Given the description of an element on the screen output the (x, y) to click on. 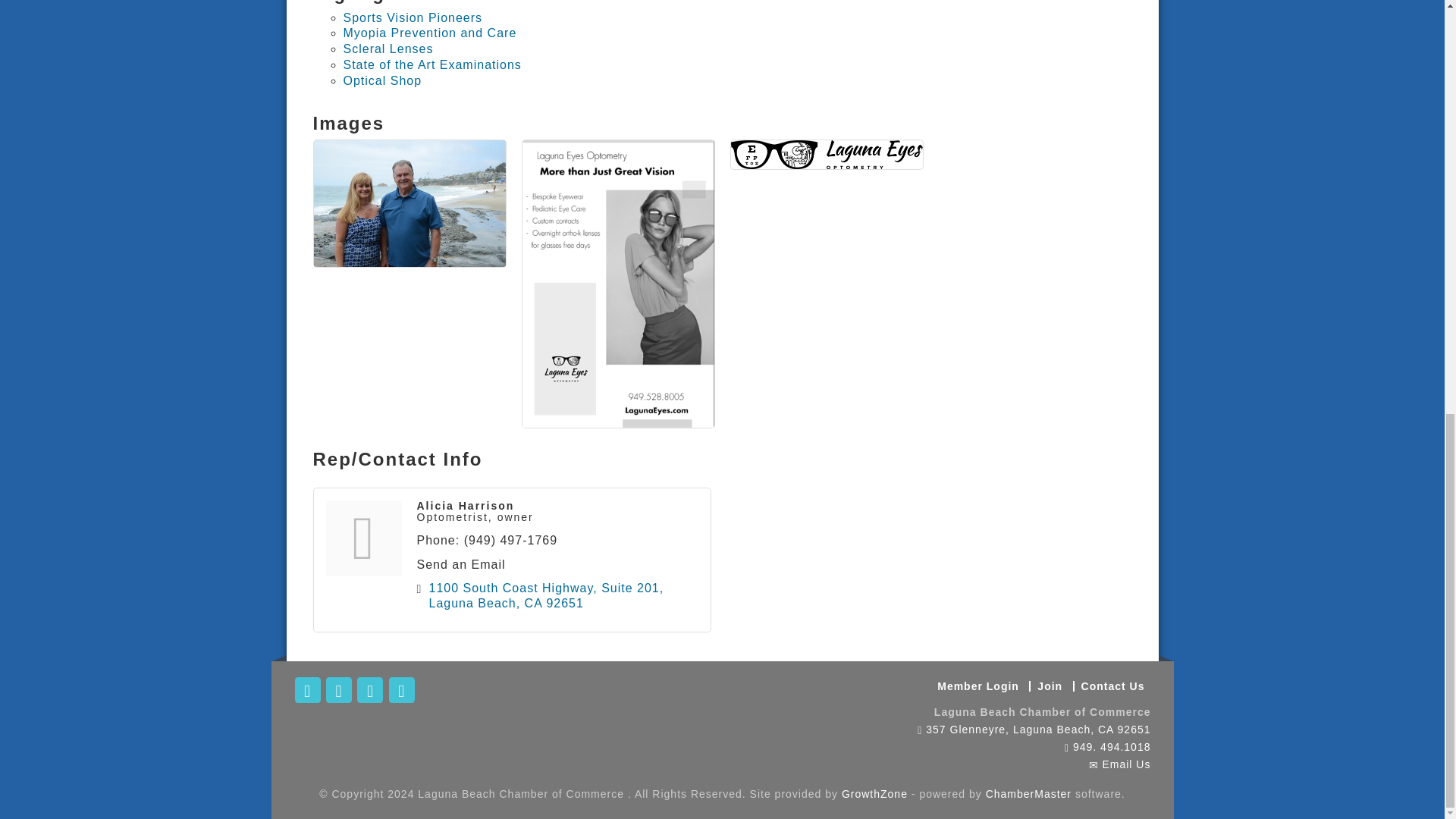
Icon Link (307, 689)
Doctors Alicia and Bill Harrison (409, 203)
